Given the description of an element on the screen output the (x, y) to click on. 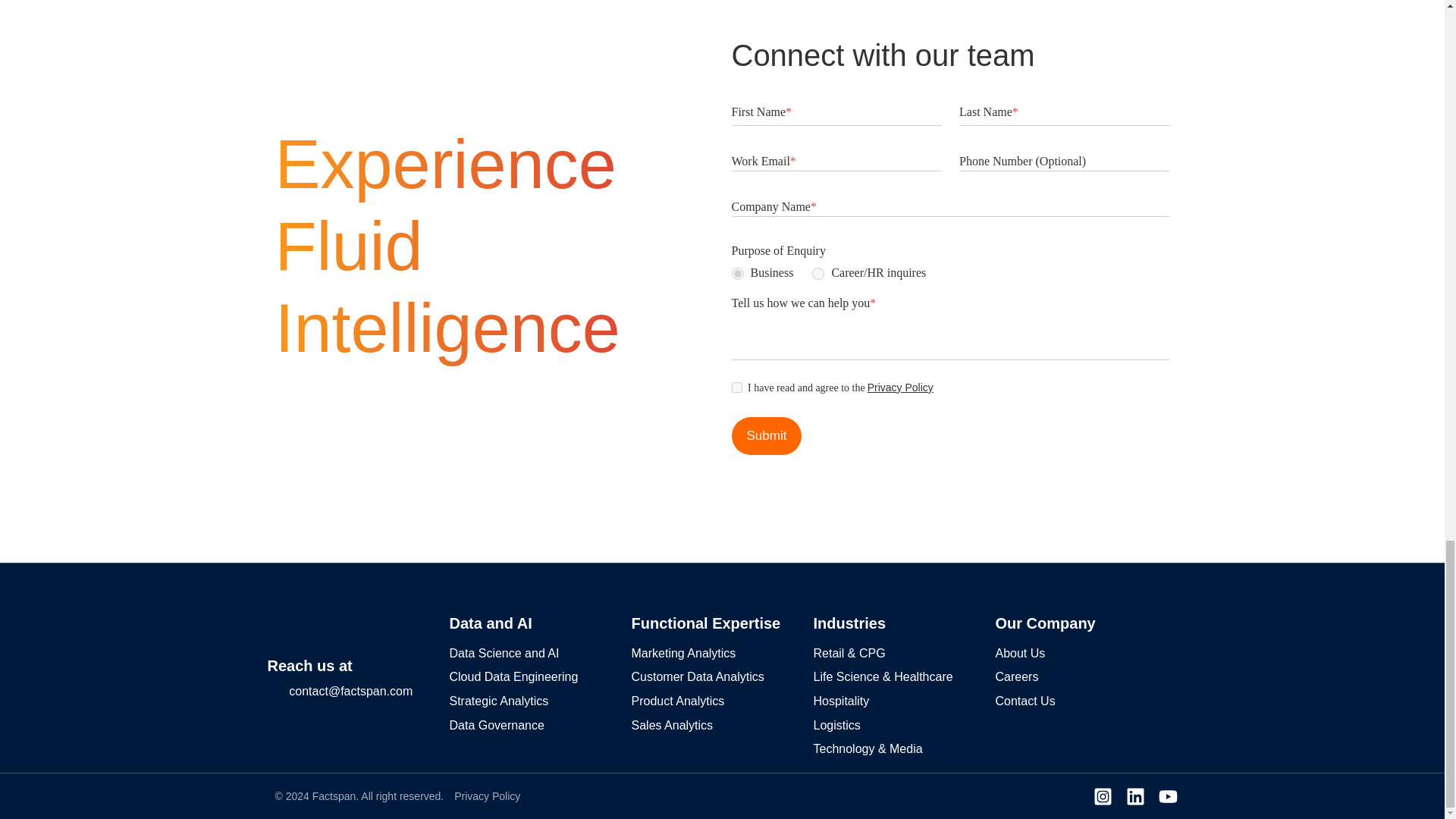
Business (736, 273)
Submit (766, 435)
I have read and agree to the (735, 387)
